Given the description of an element on the screen output the (x, y) to click on. 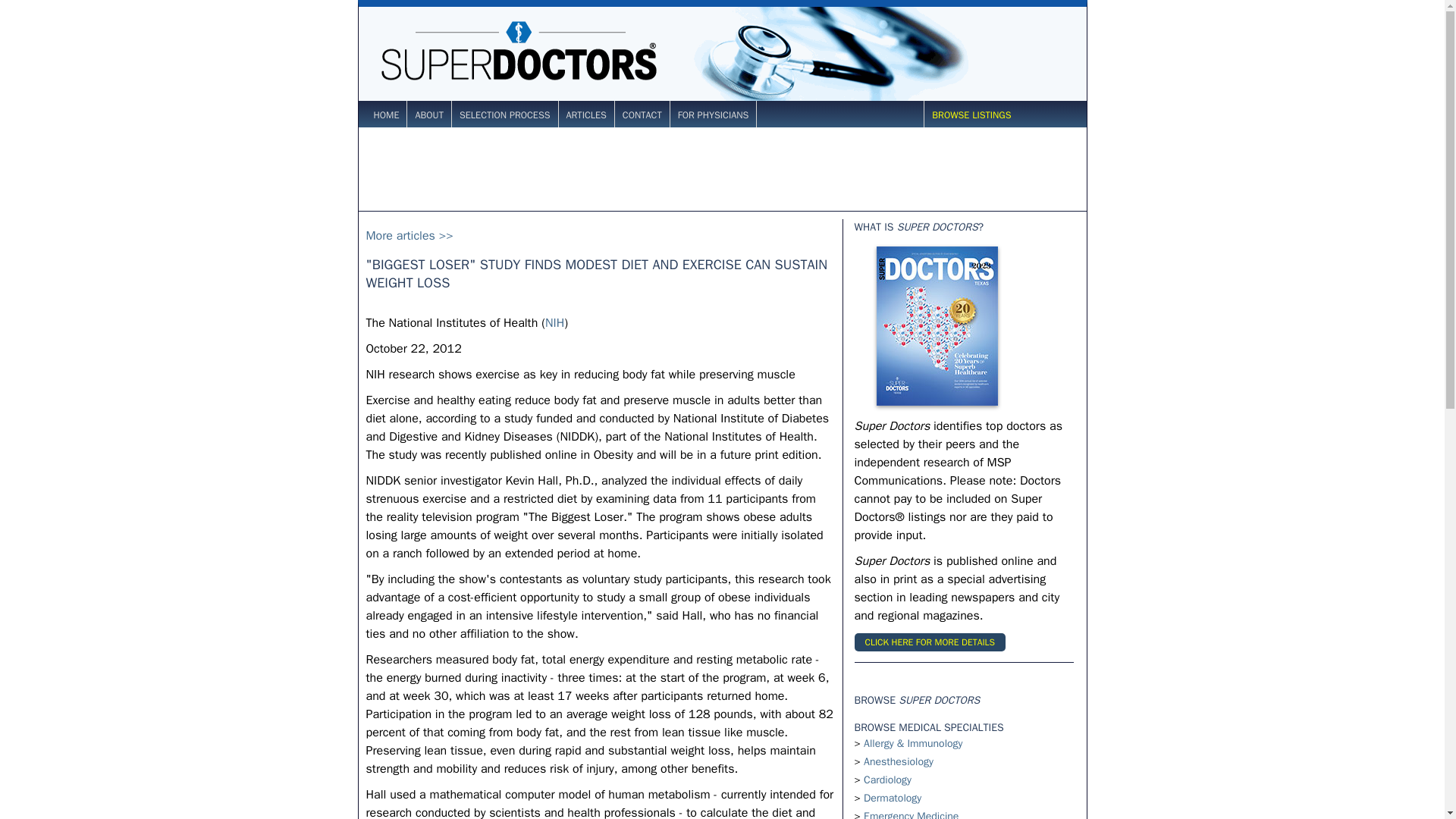
FOR PHYSICIANS (713, 114)
Home (385, 114)
HOME (385, 114)
SELECTION PROCESS (505, 114)
Contact (642, 114)
Dermatology (892, 797)
3rd party ad content (721, 169)
NIH (554, 322)
Emergency Medicine (910, 814)
Anesthesiology (898, 761)
CLICK HERE FOR MORE DETAILS (928, 642)
CONTACT (642, 114)
Browse Listings (970, 114)
Selection Process (505, 114)
Cardiology (887, 779)
